Given the description of an element on the screen output the (x, y) to click on. 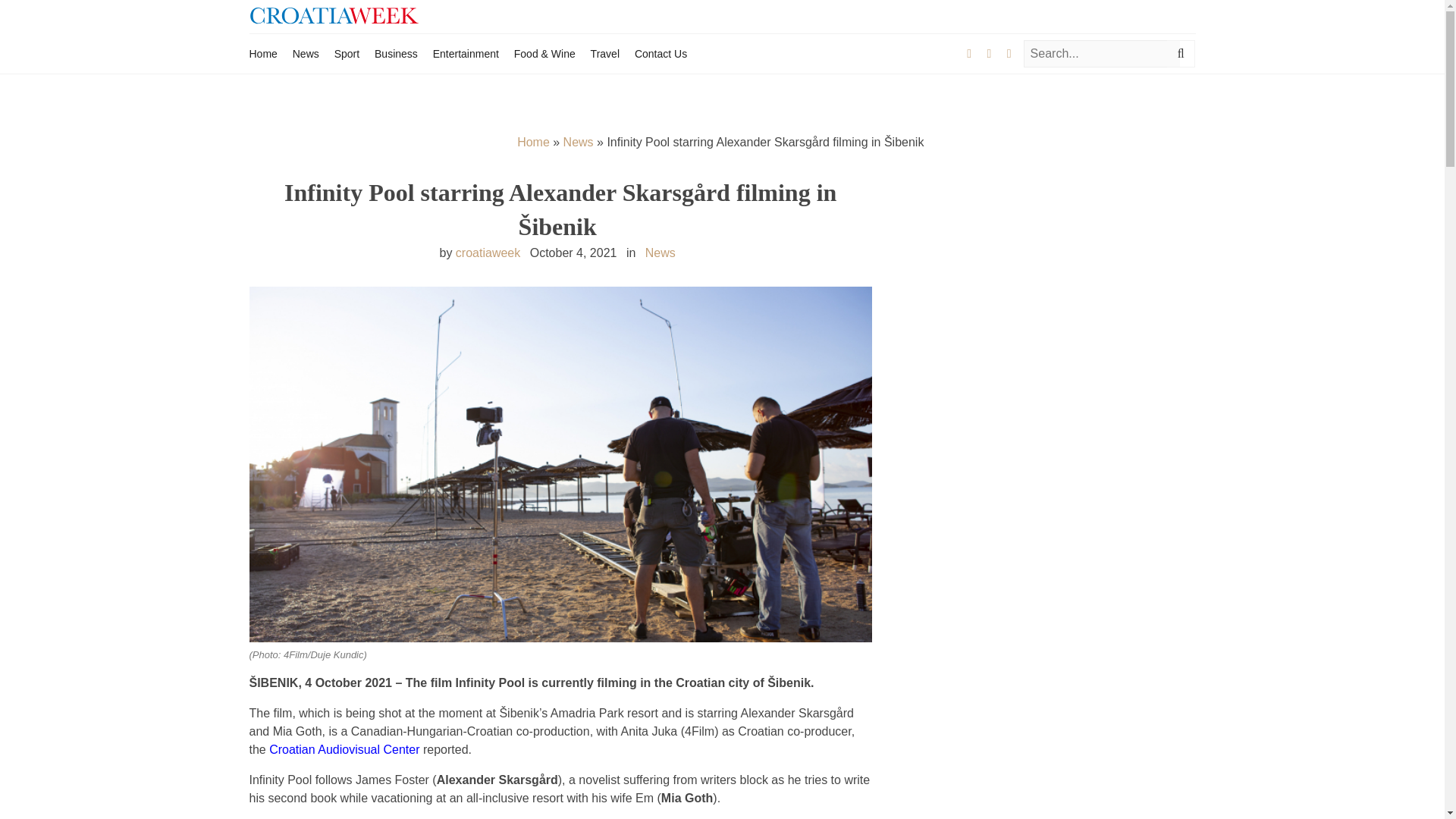
News (305, 53)
Entertainment (465, 53)
Contact Us (660, 53)
News (578, 141)
Home (533, 141)
Travel (605, 53)
News (660, 252)
Home (262, 53)
Sport (346, 53)
Business (395, 53)
croatiaweek (487, 252)
Croatian Audiovisual Center (346, 748)
